Given the description of an element on the screen output the (x, y) to click on. 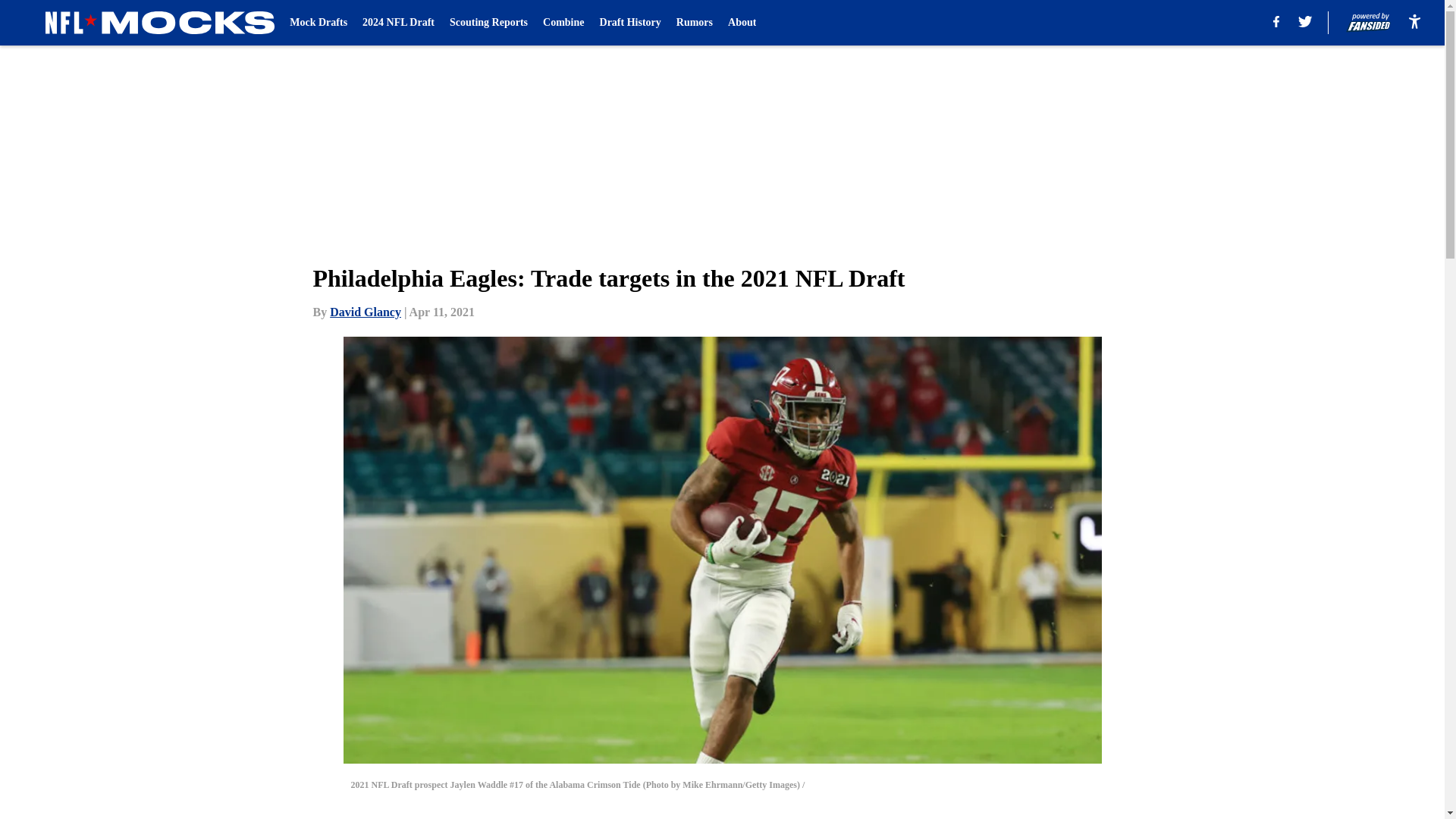
David Glancy (365, 311)
Rumors (695, 22)
Scouting Reports (488, 22)
Combine (563, 22)
About (741, 22)
Mock Drafts (318, 22)
2024 NFL Draft (397, 22)
Draft History (630, 22)
